Given the description of an element on the screen output the (x, y) to click on. 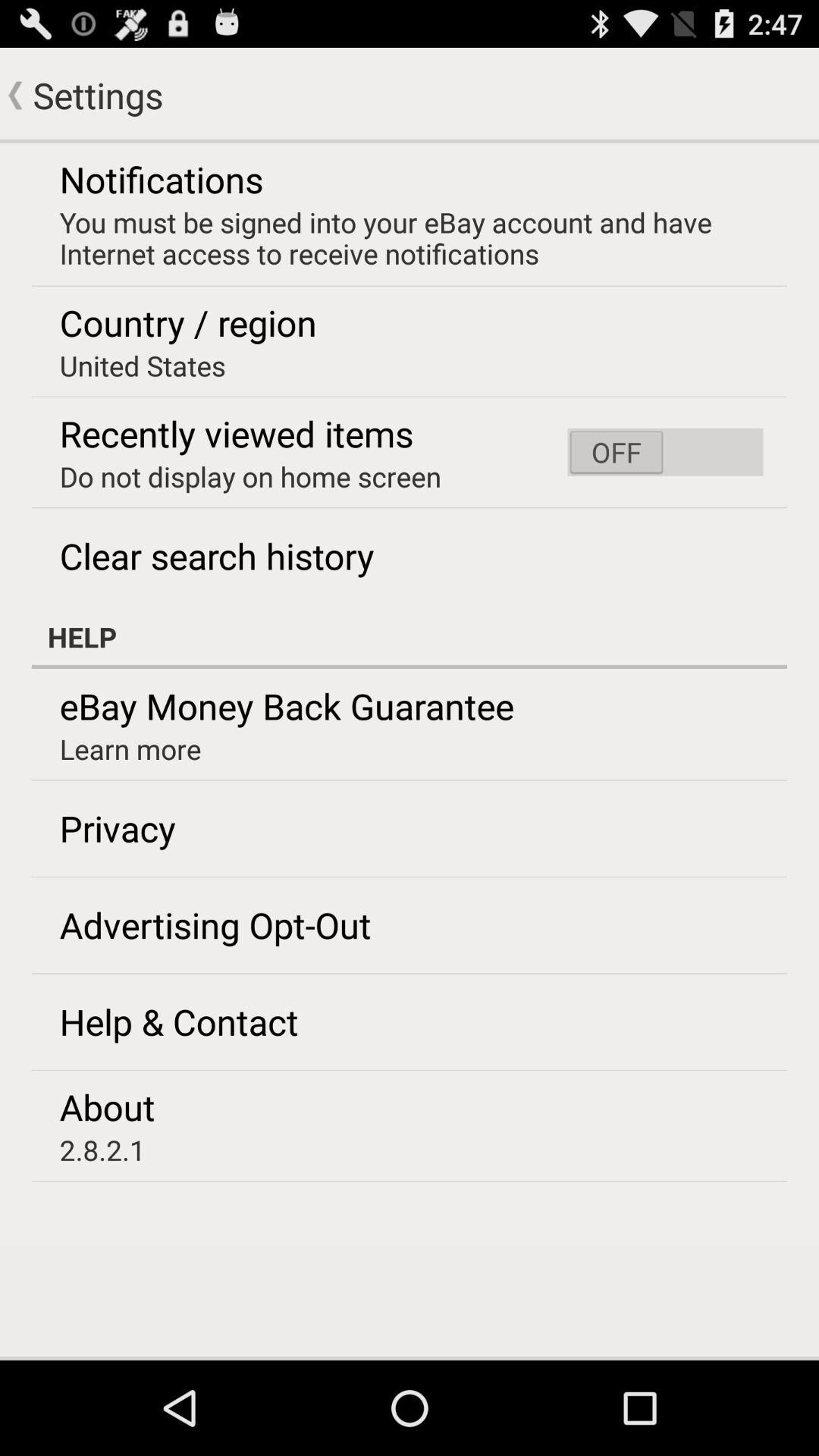
select the icon to the right of do not display app (665, 451)
